Given the description of an element on the screen output the (x, y) to click on. 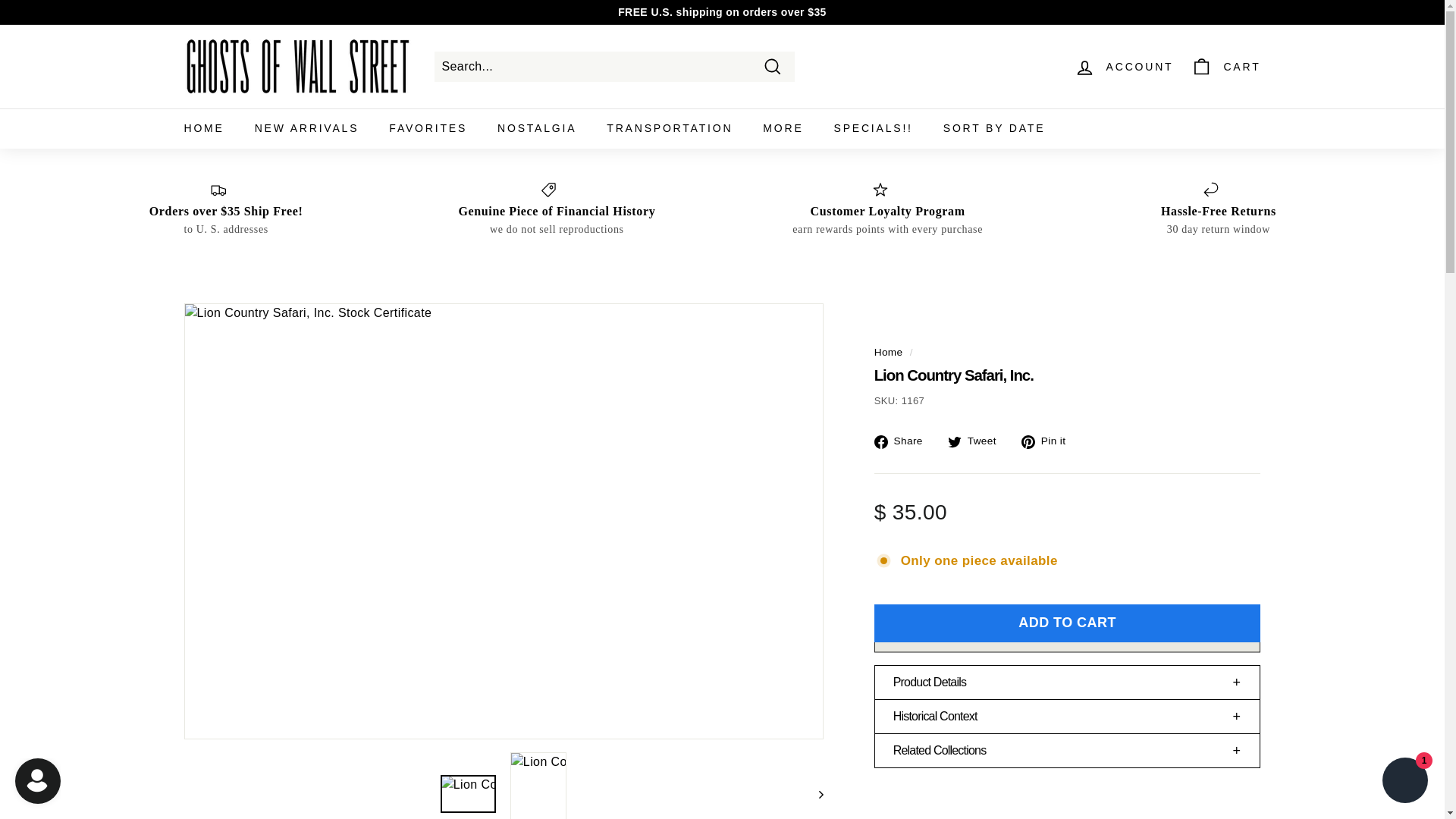
FAVORITES (427, 128)
NOSTALGIA (536, 128)
NEW ARRIVALS (307, 128)
Share on Facebook (904, 441)
Tweet on Twitter (977, 441)
HOME (203, 128)
Pin on Pinterest (1049, 441)
ACCOUNT (1123, 66)
Back to the Frontpage (888, 351)
